Given the description of an element on the screen output the (x, y) to click on. 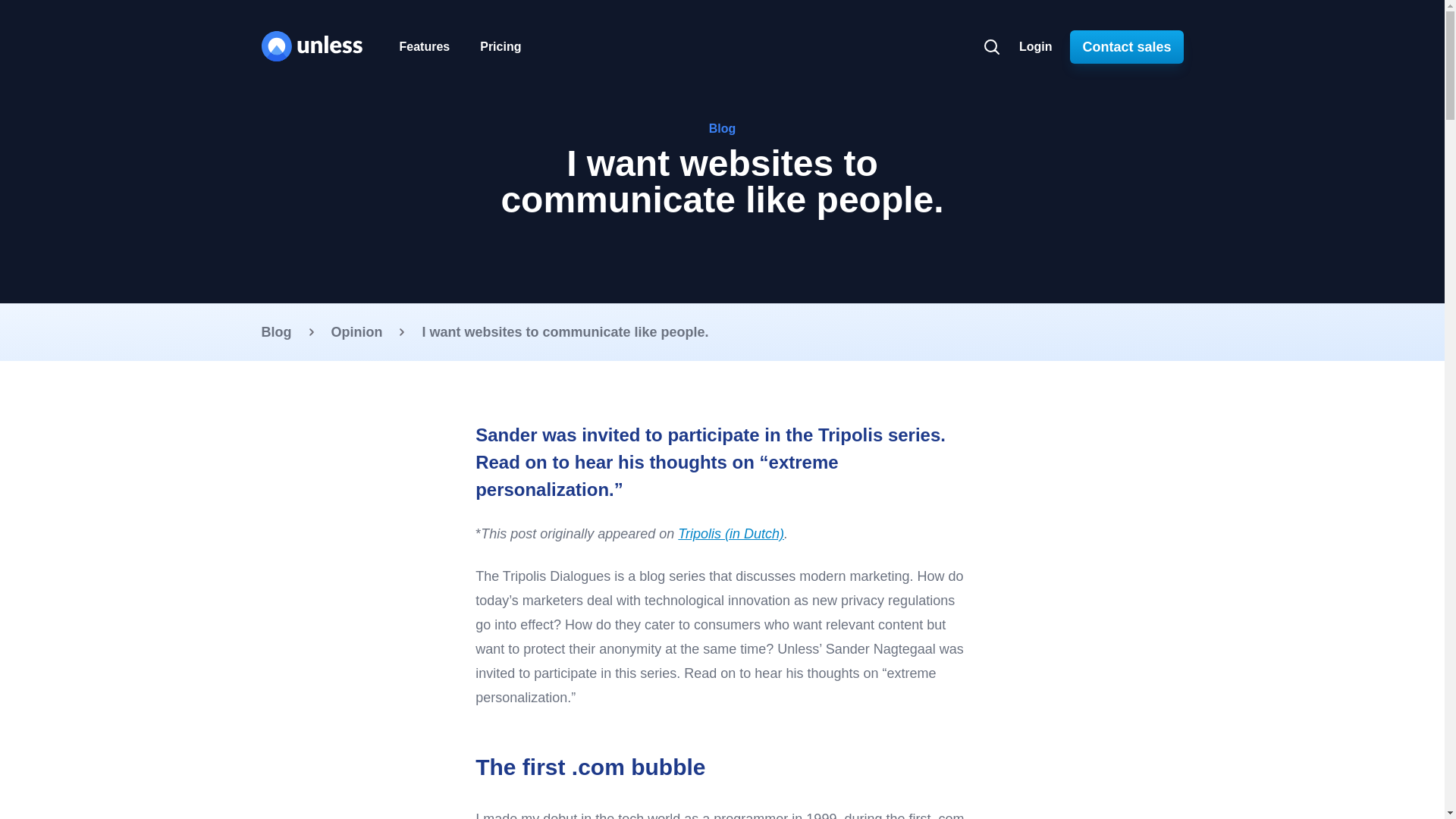
Contact sales (1126, 46)
Features (424, 46)
Opinion (355, 332)
I want websites to communicate like people. (564, 332)
Blog (275, 332)
Tripolis Dialogues with Sander from Unless (731, 533)
Login (1035, 46)
Pricing (500, 46)
